Given the description of an element on the screen output the (x, y) to click on. 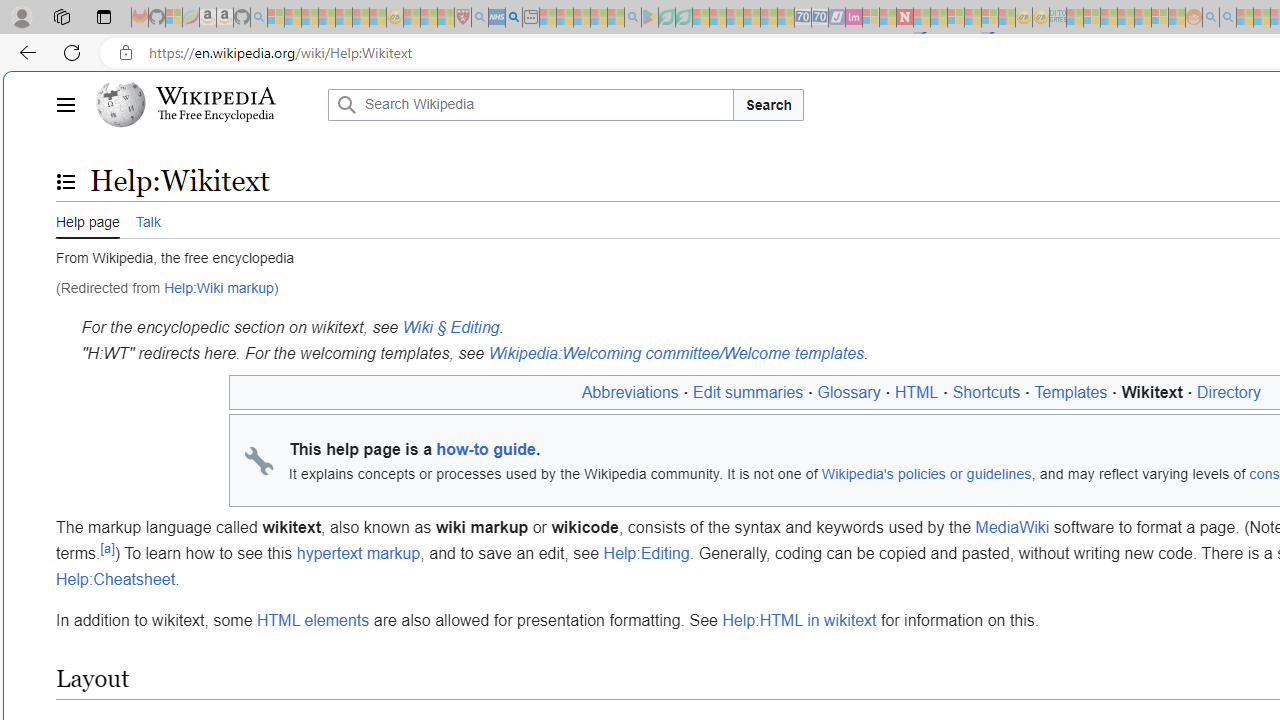
Shortcuts (986, 392)
[a] (107, 547)
how-to guide (486, 449)
The Free Encyclopedia (216, 116)
Help page (88, 219)
